Given the description of an element on the screen output the (x, y) to click on. 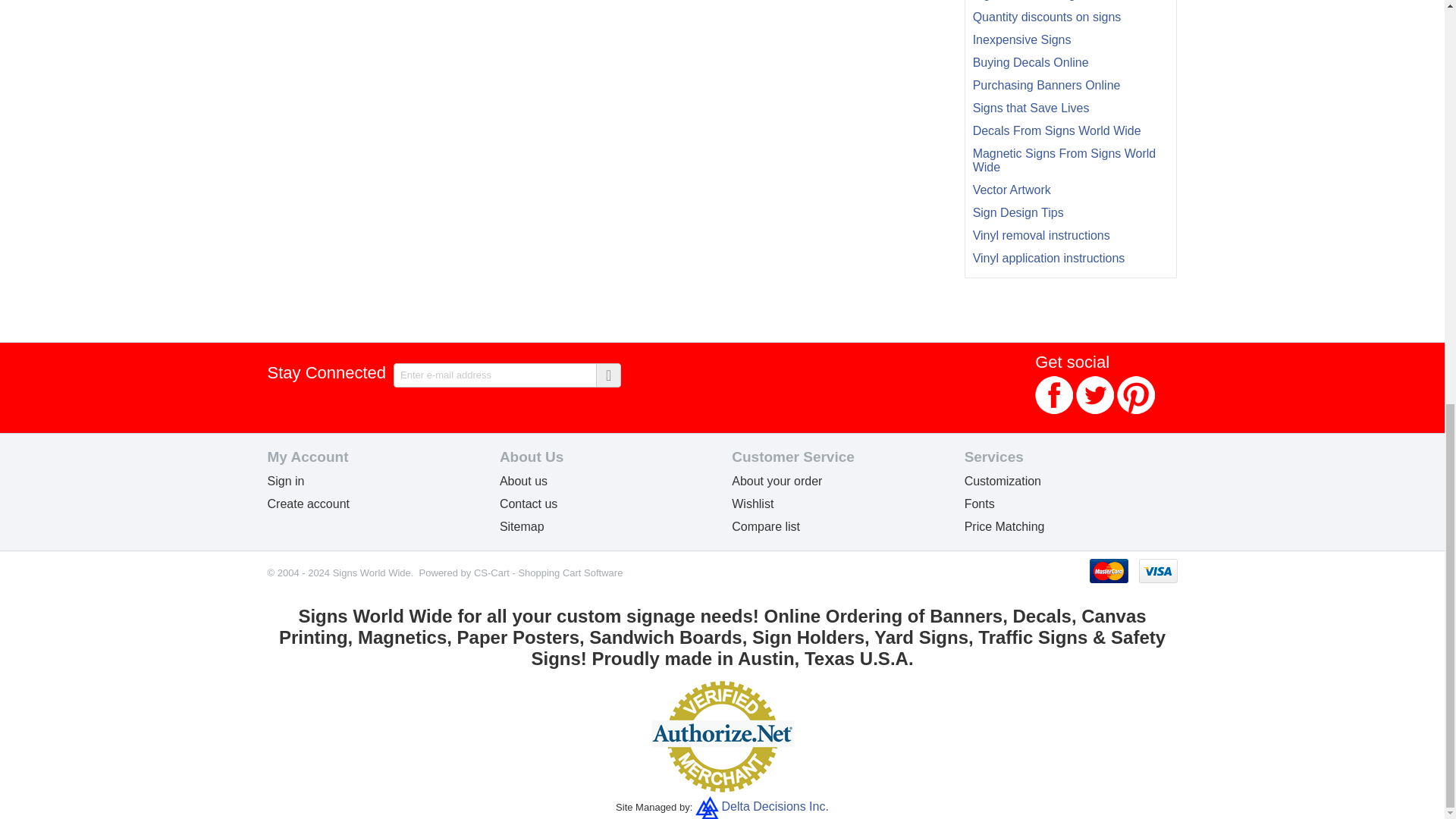
Go (607, 374)
Enter e-mail address (507, 375)
